Given the description of an element on the screen output the (x, y) to click on. 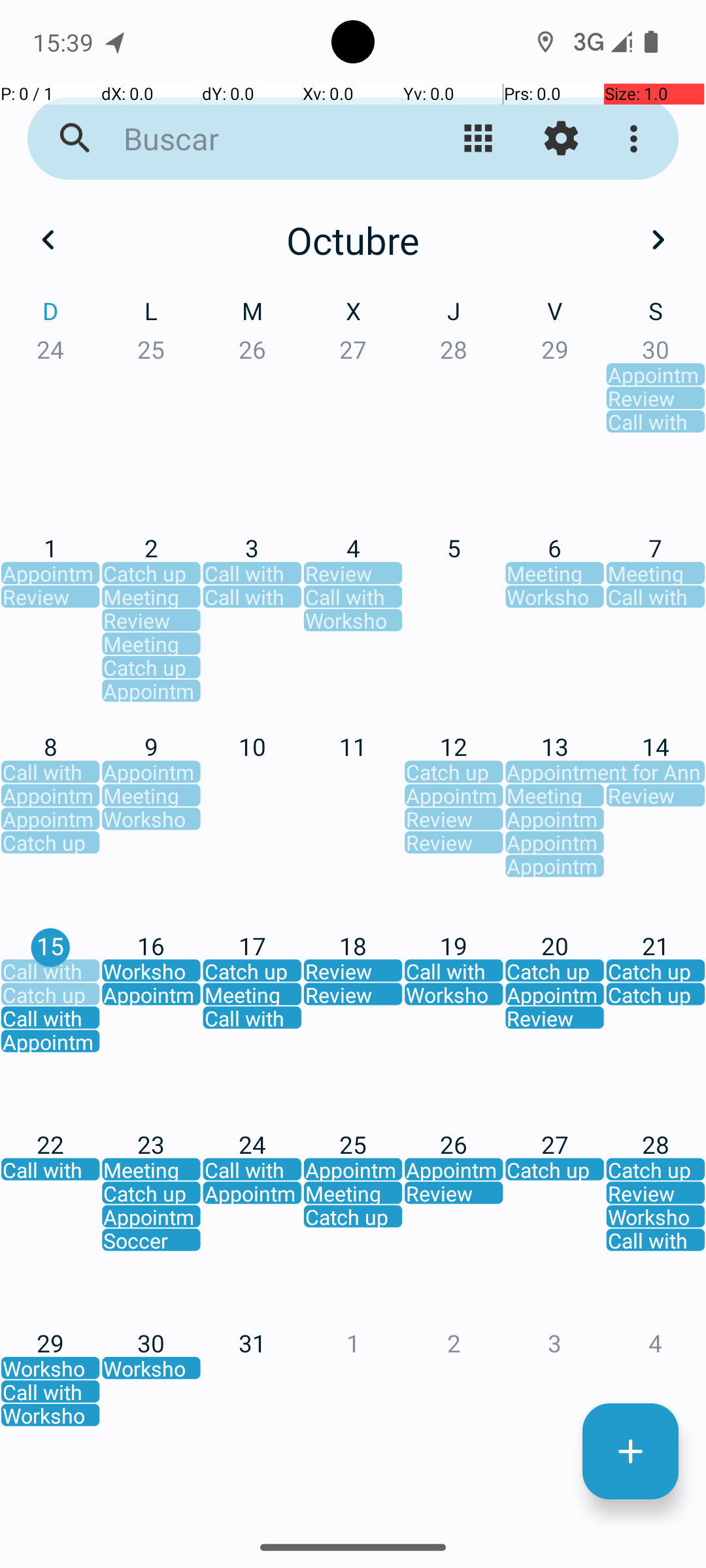
15:39 Element type: android.widget.TextView (64, 41)
